Given the description of an element on the screen output the (x, y) to click on. 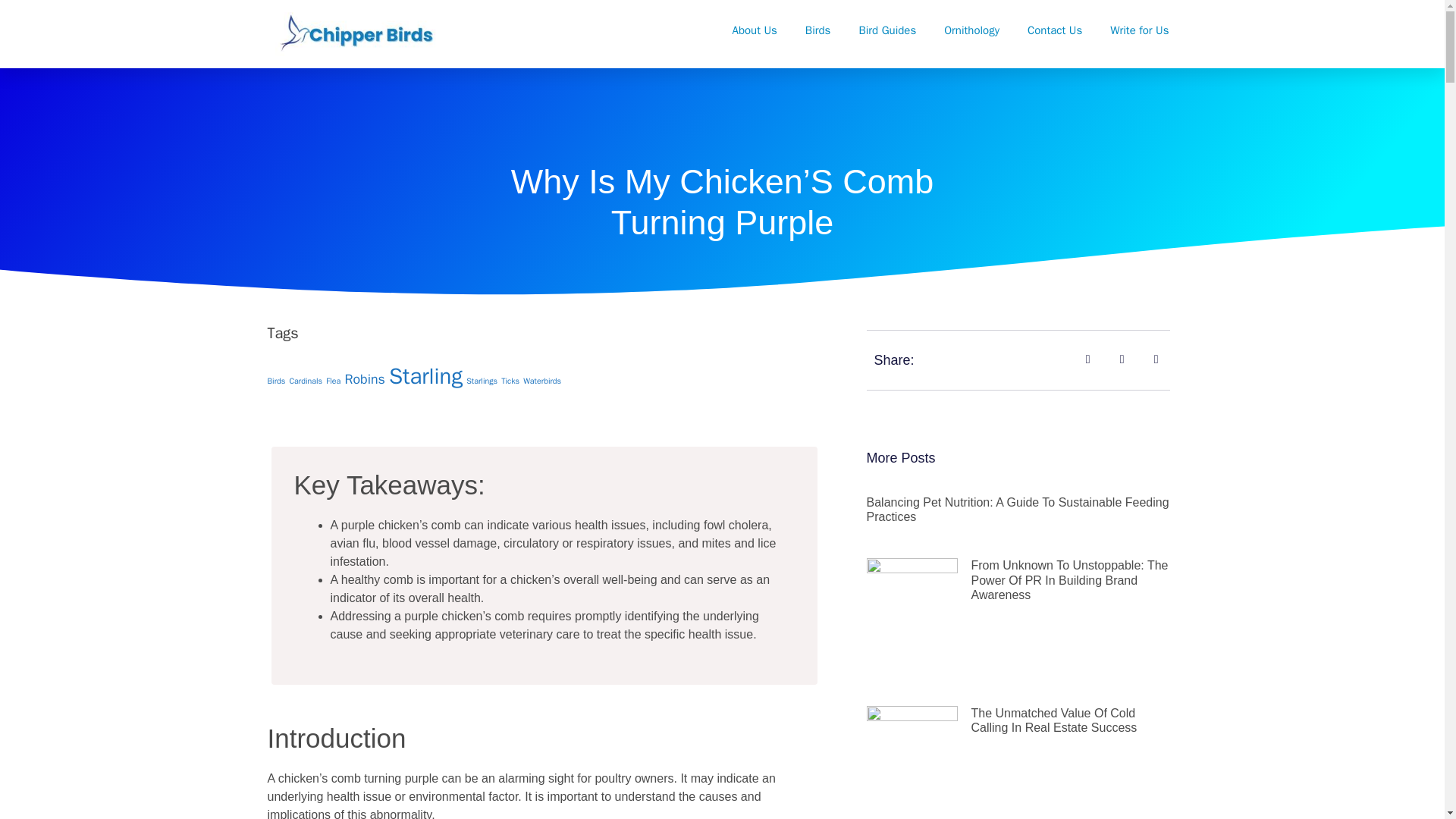
Flea (333, 380)
Ornithology (971, 29)
Contact Us (1054, 29)
Cardinals (304, 380)
Birds (275, 380)
Write for Us (1139, 29)
Starling (425, 376)
Robins (363, 379)
Bird Guides (887, 29)
About Us (754, 29)
